Given the description of an element on the screen output the (x, y) to click on. 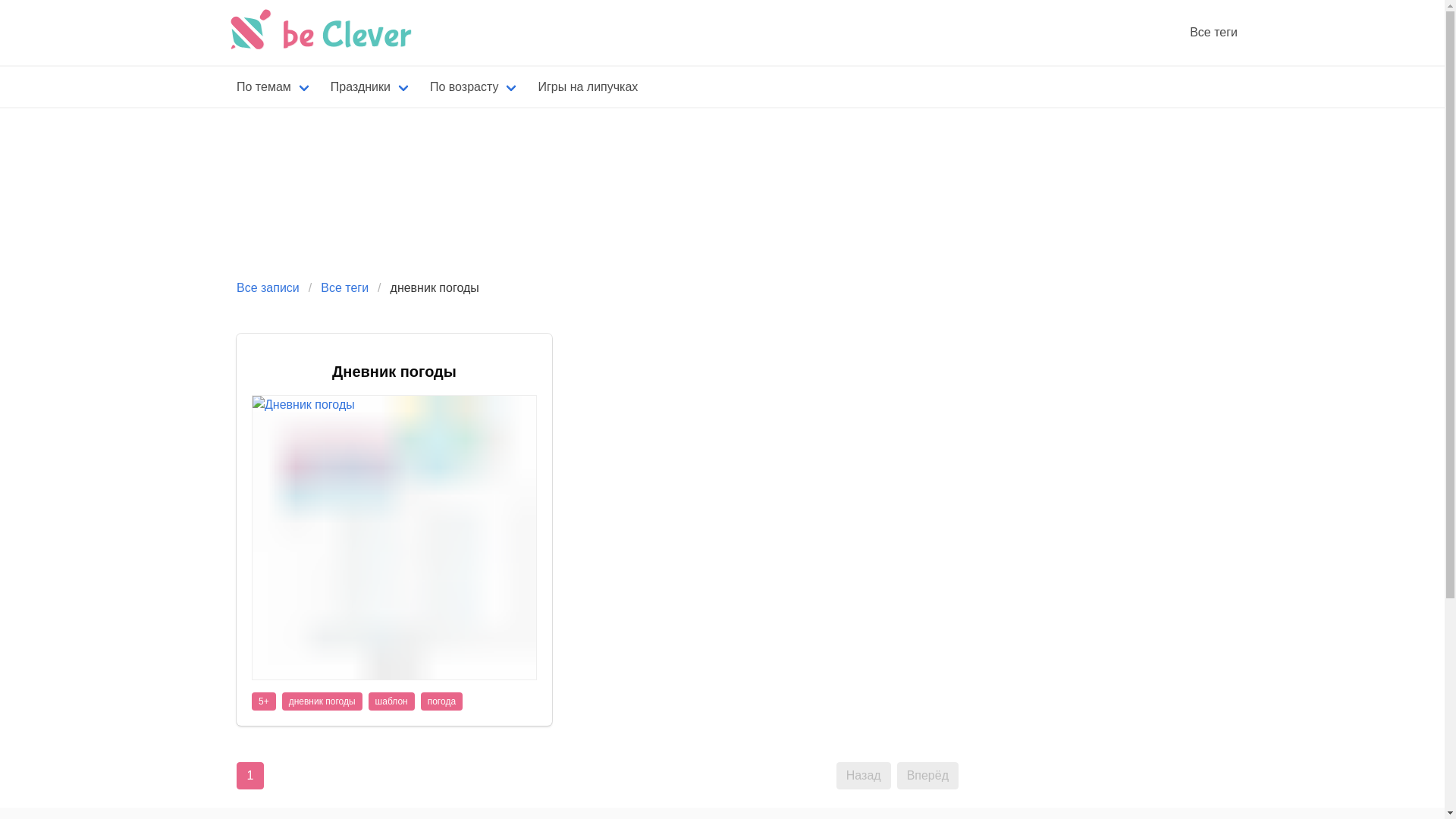
1 Element type: text (249, 775)
5+ Element type: text (263, 701)
